Given the description of an element on the screen output the (x, y) to click on. 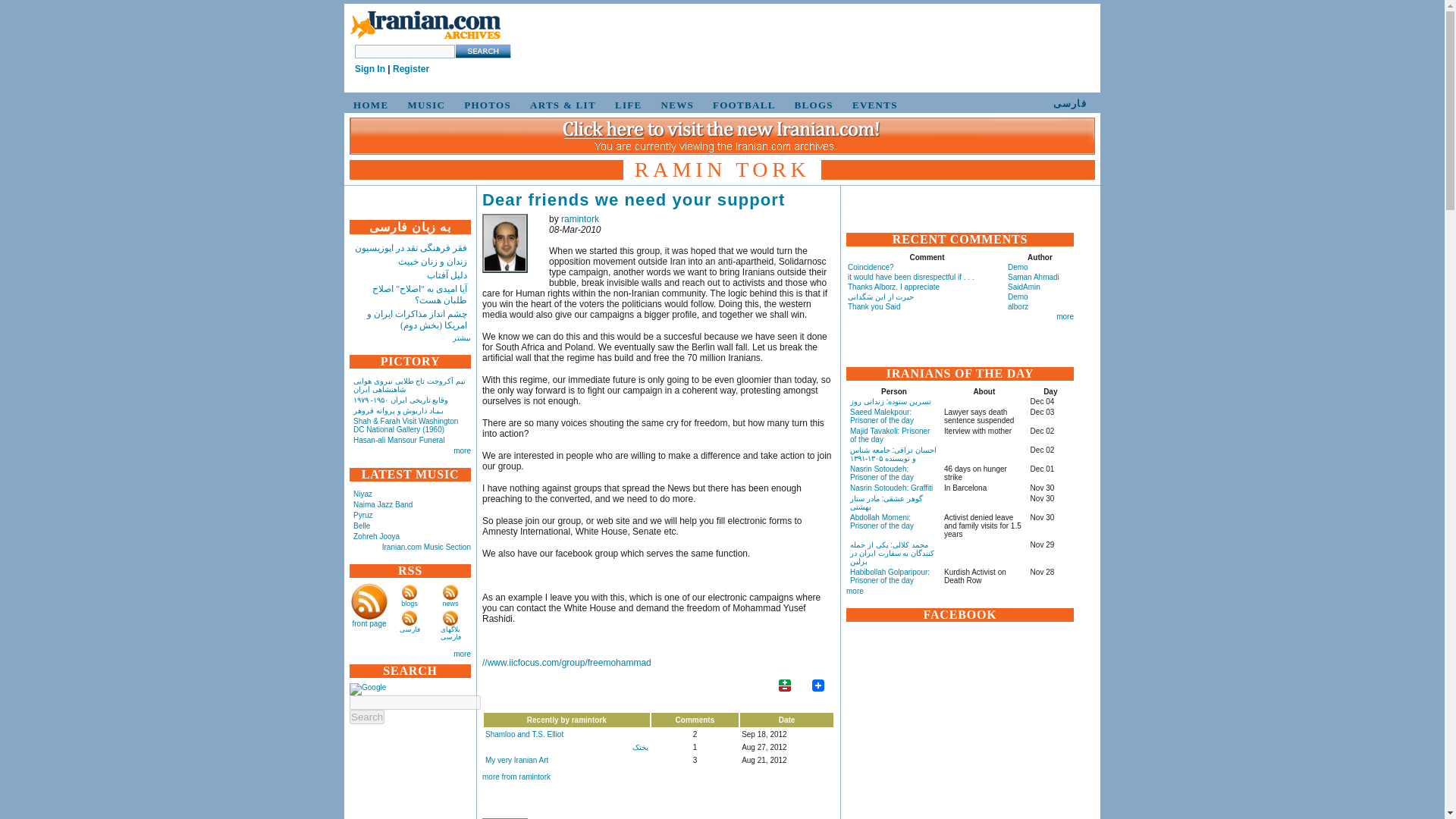
Register (411, 68)
EVENTS (872, 105)
NEWS (674, 105)
Google (367, 689)
Zohreh Jooya (375, 536)
front page (368, 623)
Sign In (370, 68)
Home (424, 25)
Iranian.com Music Section (425, 546)
ramintork (504, 818)
news (450, 603)
Home (424, 40)
Niyaz (362, 493)
Pyruz (362, 515)
View user profile. (579, 218)
